Given the description of an element on the screen output the (x, y) to click on. 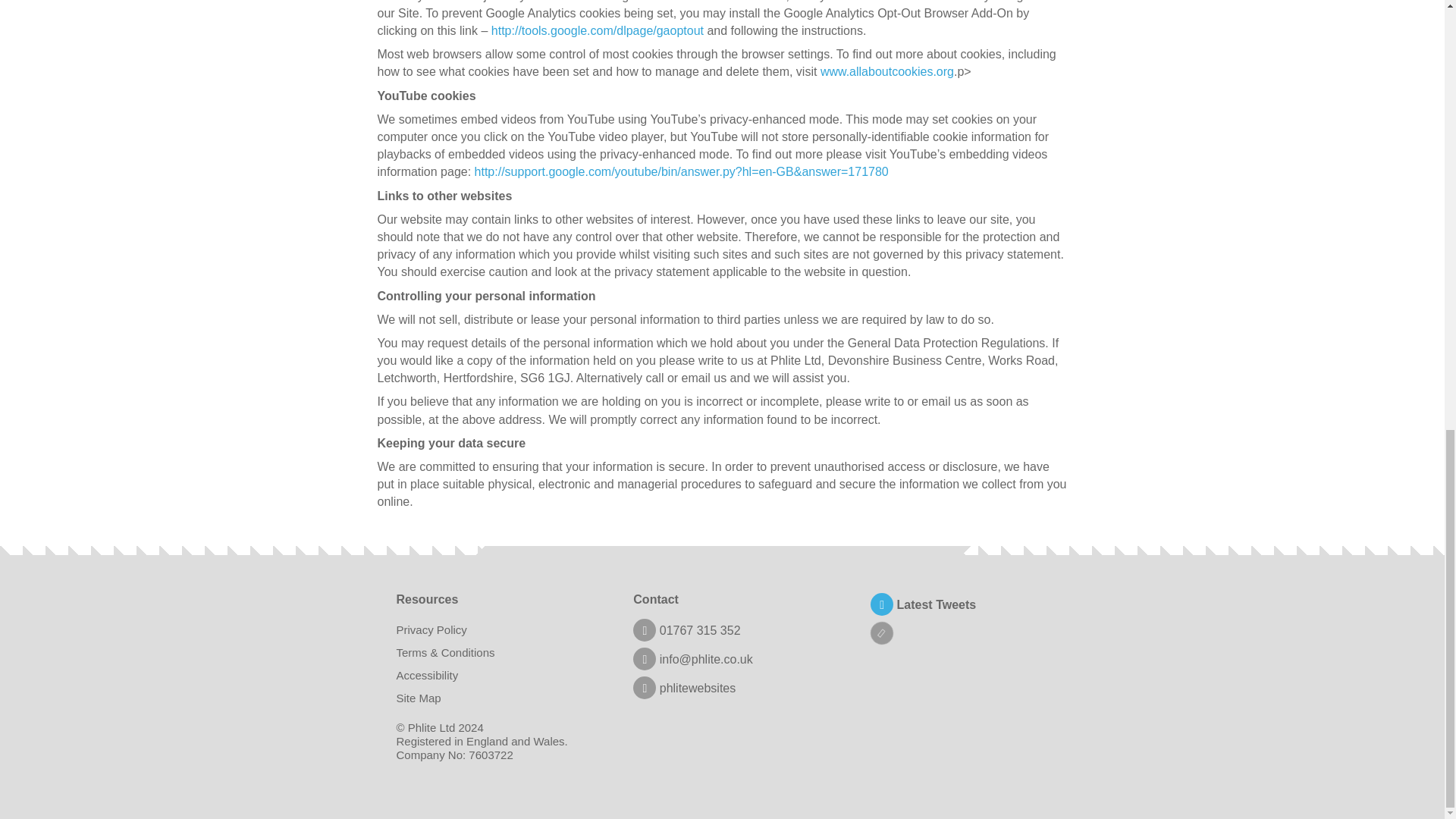
01767 315 352 (686, 630)
Accessibility (427, 675)
Privacy Policy (430, 629)
Latest Tweets (922, 604)
phlitewebsites (684, 687)
www.allaboutcookies.org (887, 71)
Site Map (418, 697)
